Given the description of an element on the screen output the (x, y) to click on. 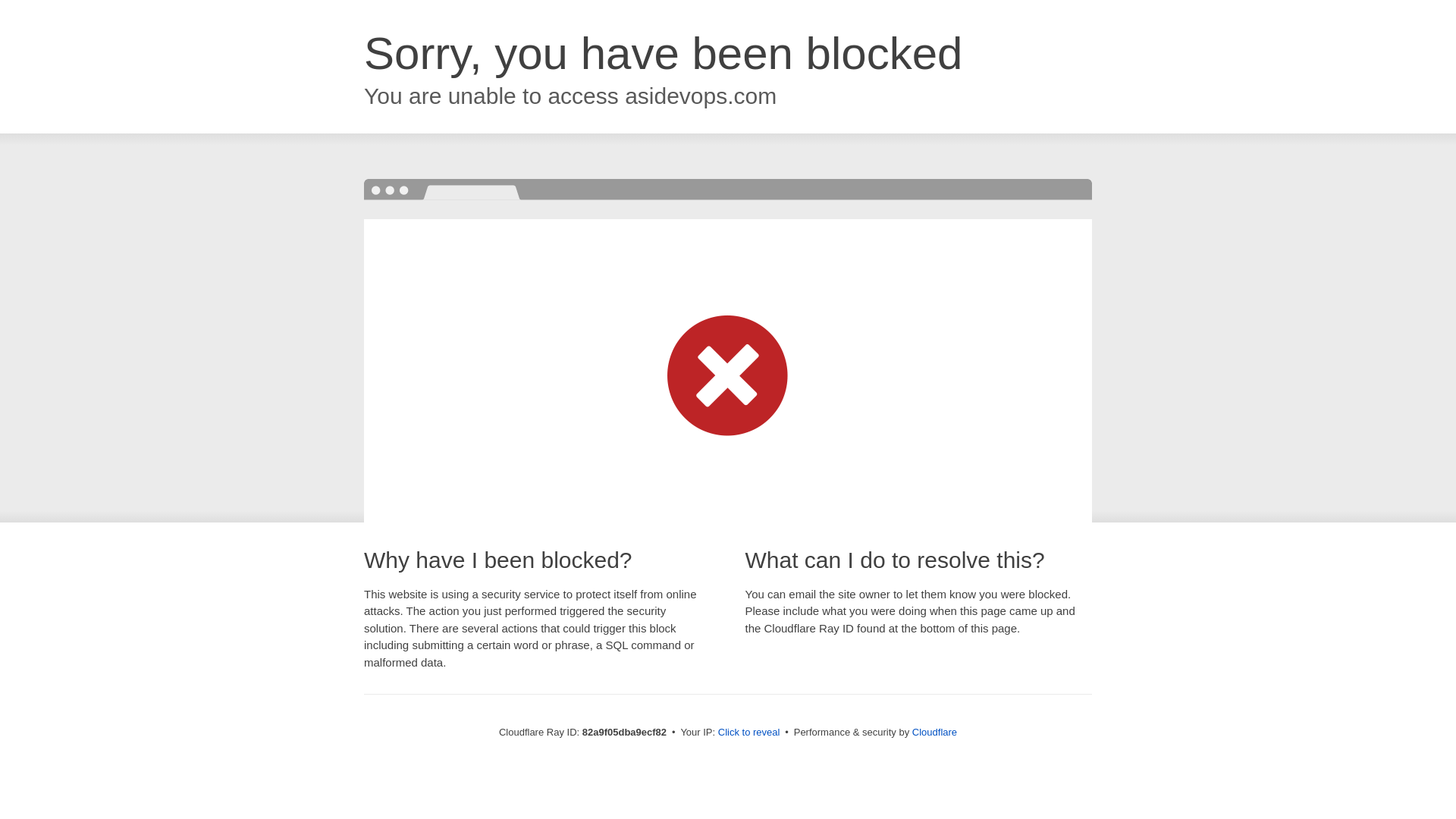
Click to reveal Element type: text (749, 732)
Cloudflare Element type: text (934, 731)
